Given the description of an element on the screen output the (x, y) to click on. 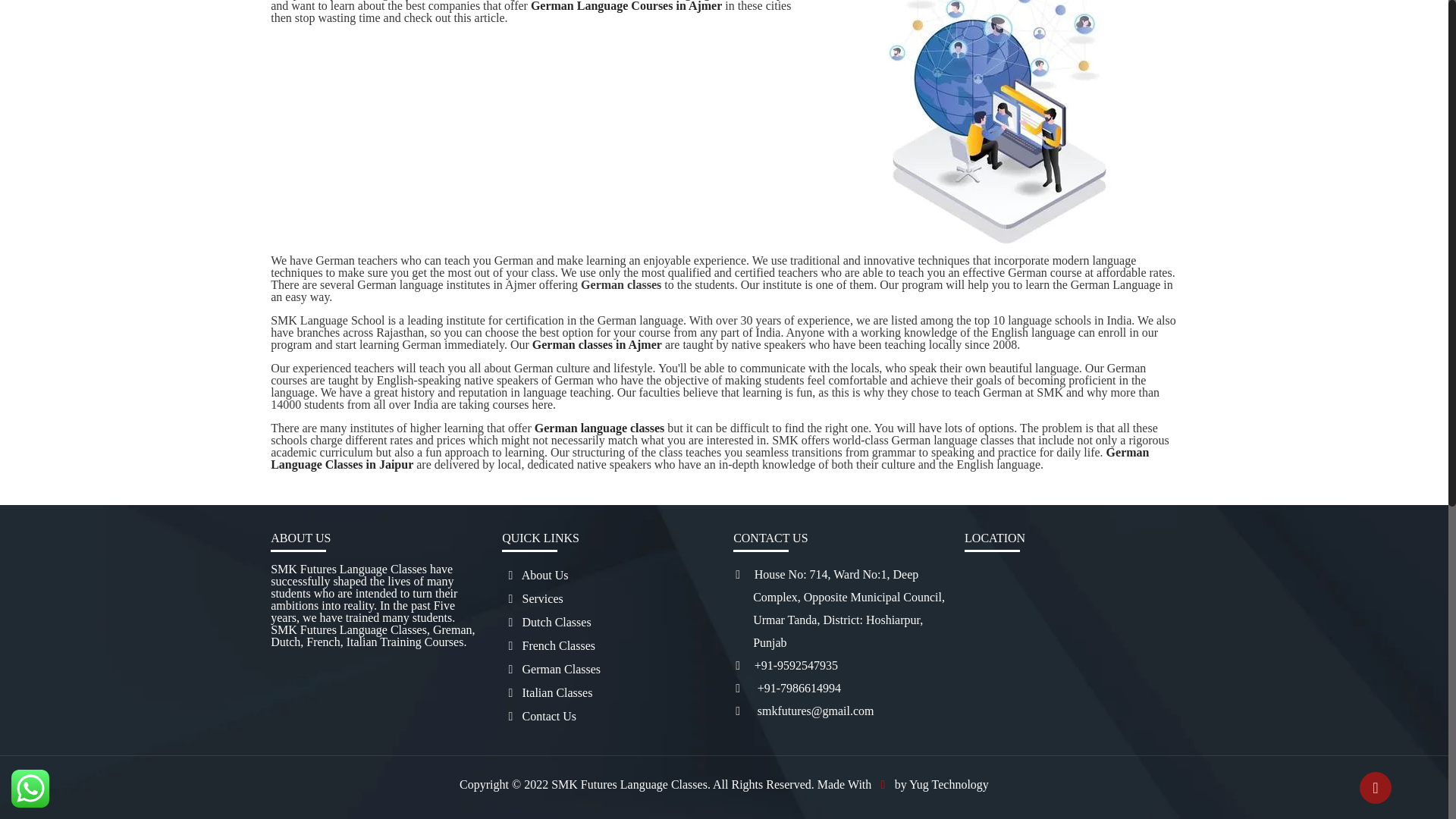
German Language Courses in Ajmer (626, 6)
German Language Courses in Ajmer (626, 6)
German classes in Ajmer (597, 344)
German Language Courses in Ajmer (621, 284)
German classes in Ajmer (597, 344)
